Given the description of an element on the screen output the (x, y) to click on. 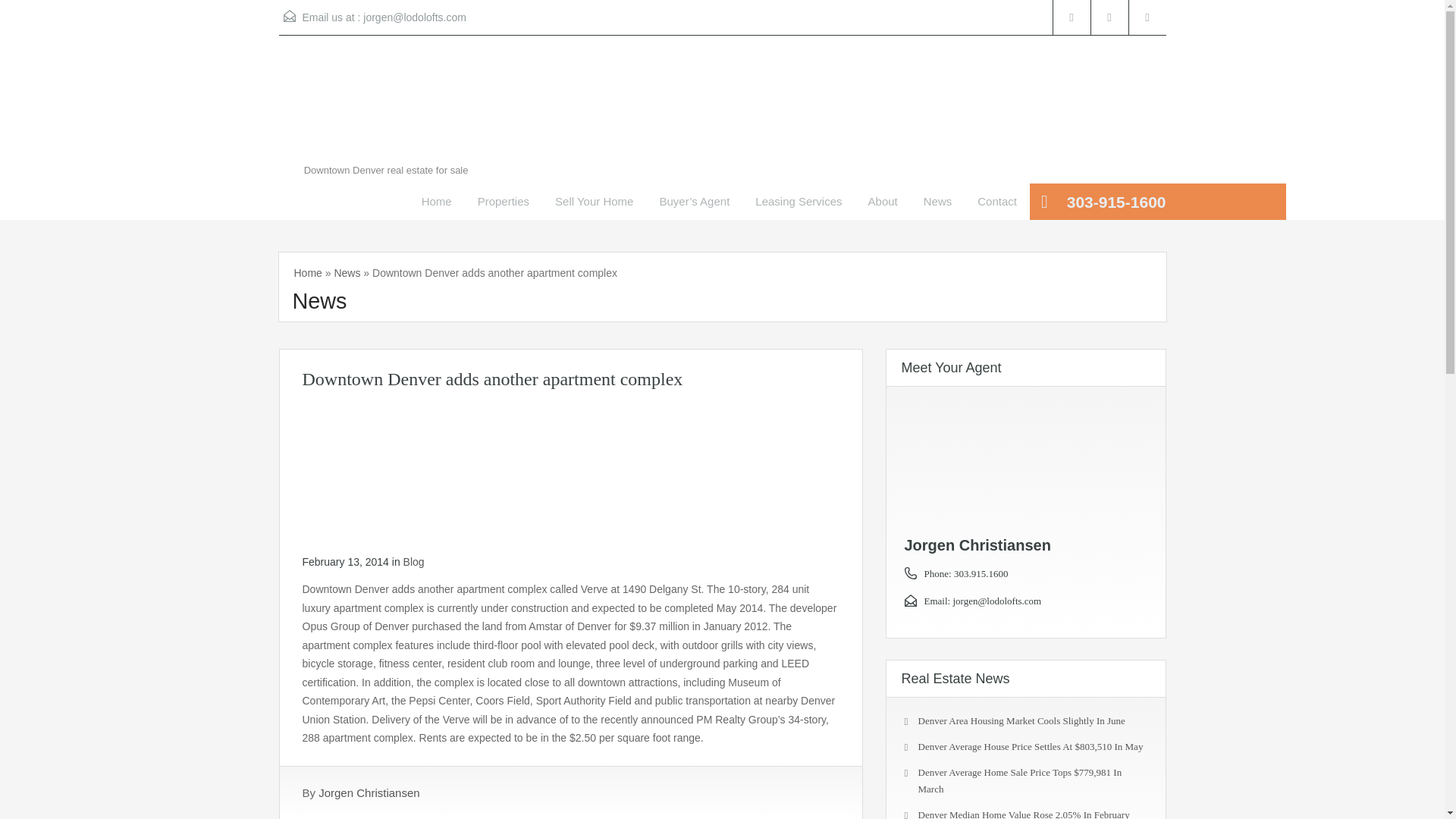
Properties (502, 201)
Sell Your Home (593, 201)
Contact (996, 201)
Downtown Denver adds another apartment complex (570, 469)
About (883, 201)
Home (436, 201)
Leasing Services (798, 201)
LoDoLofts (377, 107)
News (938, 201)
